Given the description of an element on the screen output the (x, y) to click on. 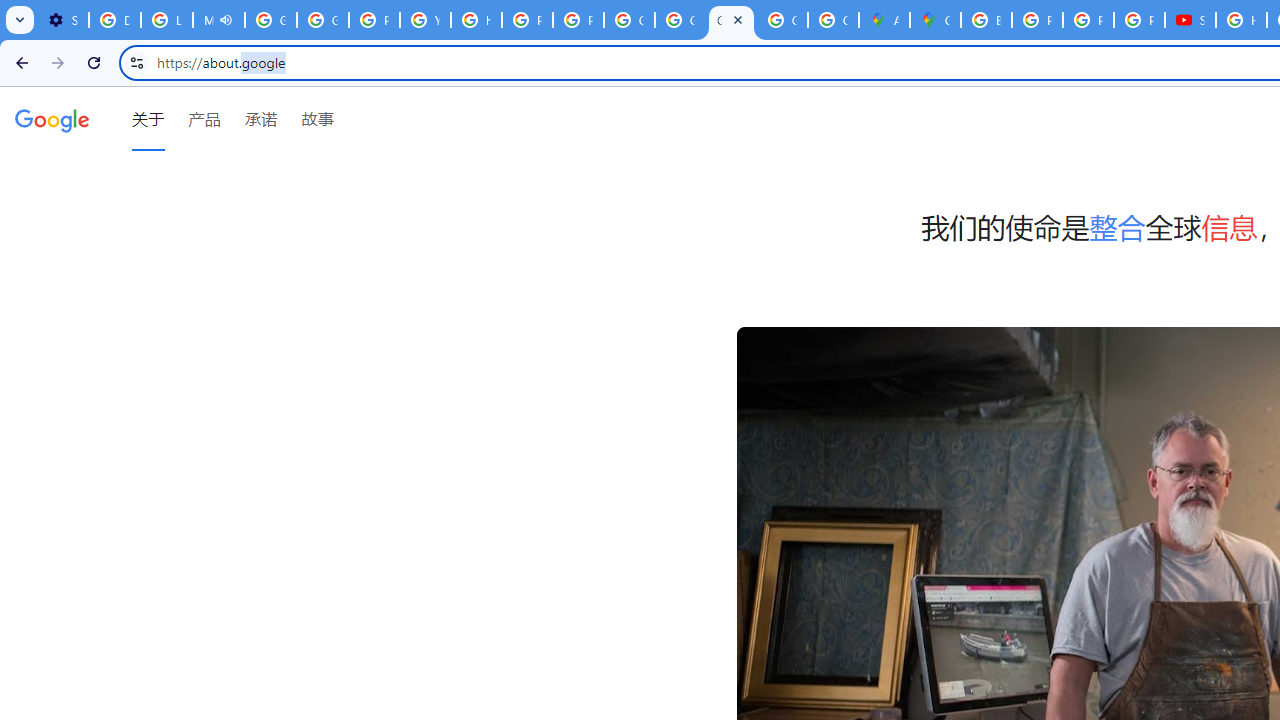
How Chrome protects your passwords - Google Chrome Help (1241, 20)
Google Account Help (270, 20)
Privacy Help Center - Policies Help (1087, 20)
Learn how to find your photos - Google Photos Help (166, 20)
YouTube (424, 20)
